Given the description of an element on the screen output the (x, y) to click on. 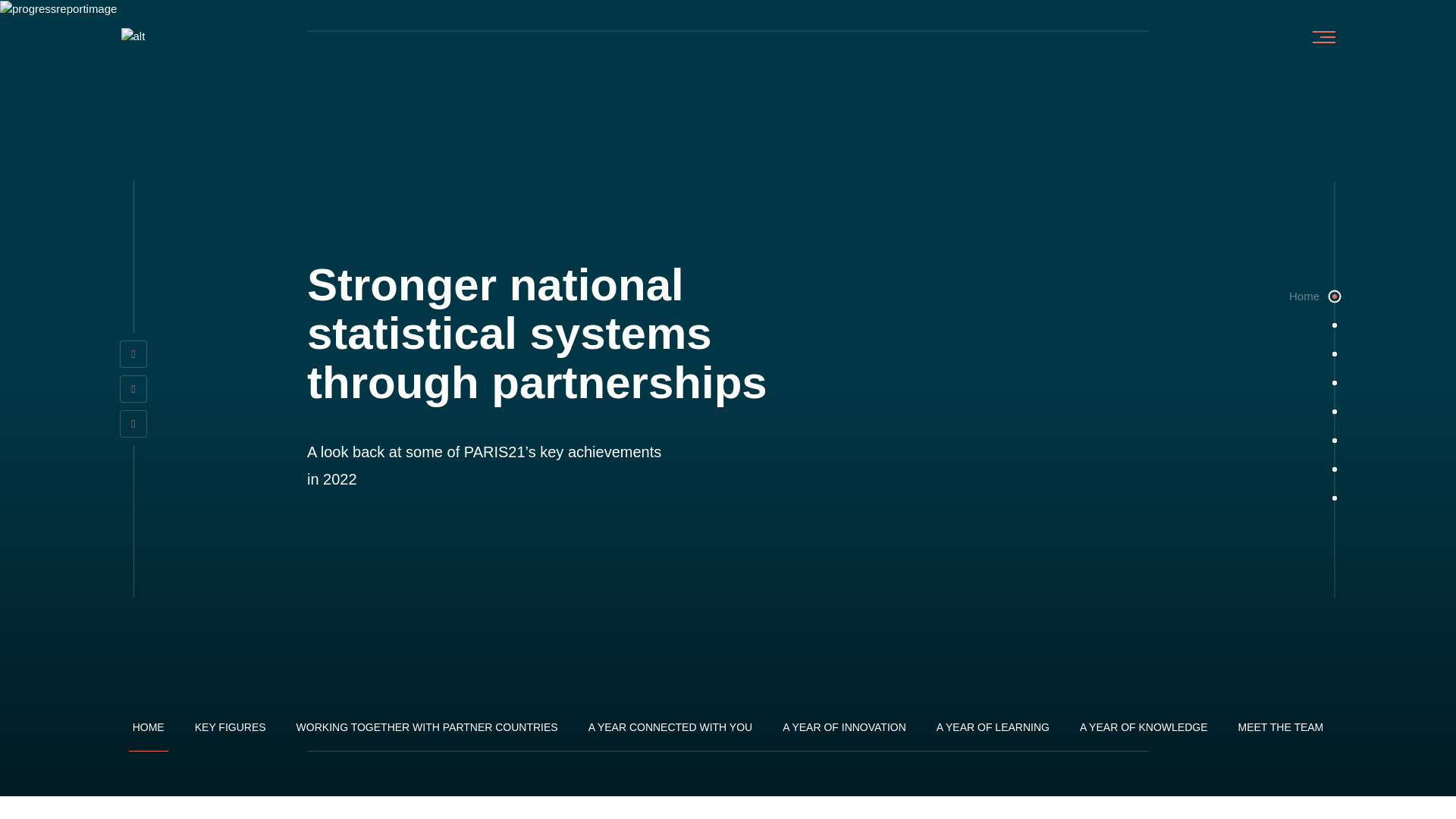
A YEAR OF LEARNING (992, 733)
Home (1334, 296)
KEY FIGURES (229, 733)
A YEAR OF INNOVATION (844, 733)
A YEAR CONNECTED WITH YOU (671, 733)
WORKING TOGETHER WITH PARTNER COUNTRIES (427, 733)
MEET THE TEAM (1279, 733)
HOME (148, 733)
A YEAR OF KNOWLEDGE (1143, 733)
